Given the description of an element on the screen output the (x, y) to click on. 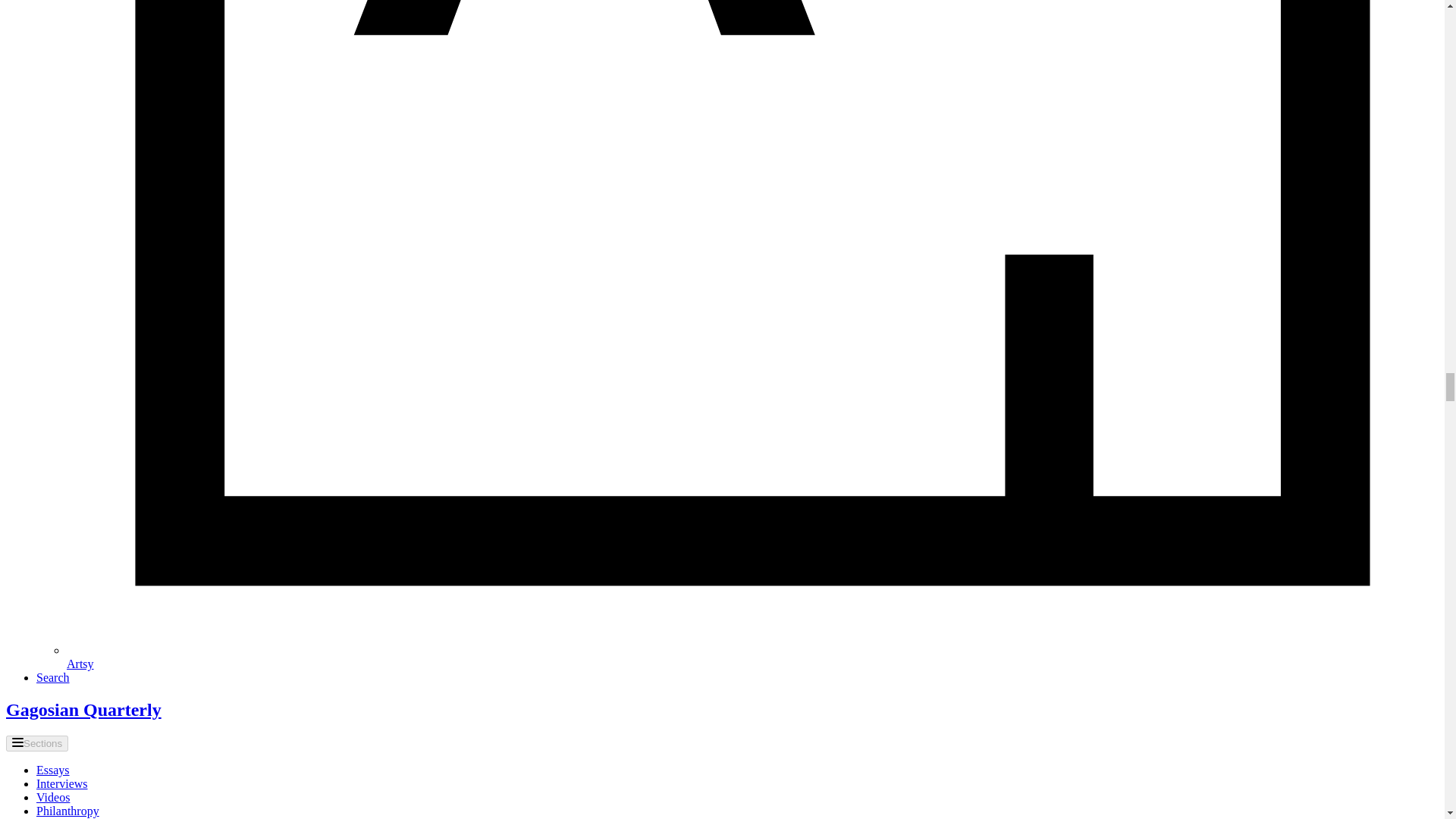
Videos (52, 797)
Search (52, 676)
Essays (52, 769)
Philanthropy (67, 810)
Sections (36, 743)
Gagosian Quarterly (83, 709)
Interviews (61, 783)
